Given the description of an element on the screen output the (x, y) to click on. 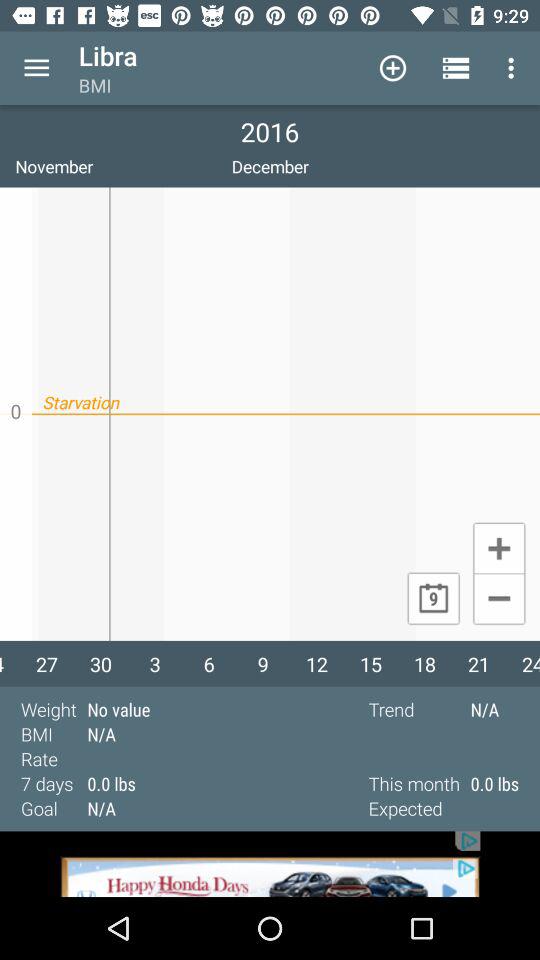
menu icon (36, 68)
